Given the description of an element on the screen output the (x, y) to click on. 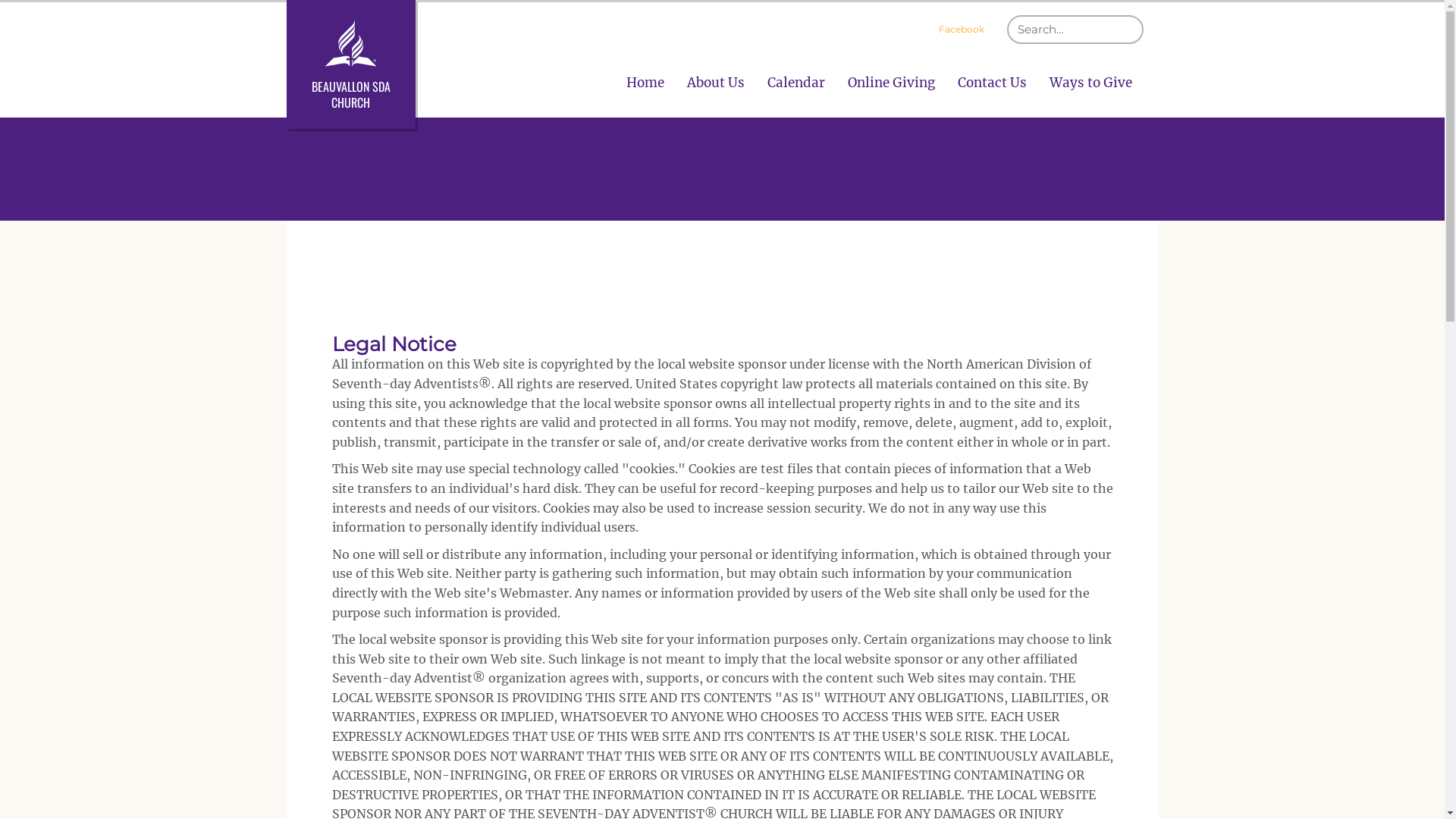
Contact Us Element type: text (991, 82)
Facebook Element type: text (961, 29)
Calendar Element type: text (795, 82)
SUBMIT Element type: text (1143, 15)
About Us Element type: text (714, 82)
Home Element type: text (644, 82)
Ways to Give Element type: text (1089, 82)
Online Giving Element type: text (890, 82)
BEAUVALLON SDA CHURCH Element type: text (350, 64)
